Given the description of an element on the screen output the (x, y) to click on. 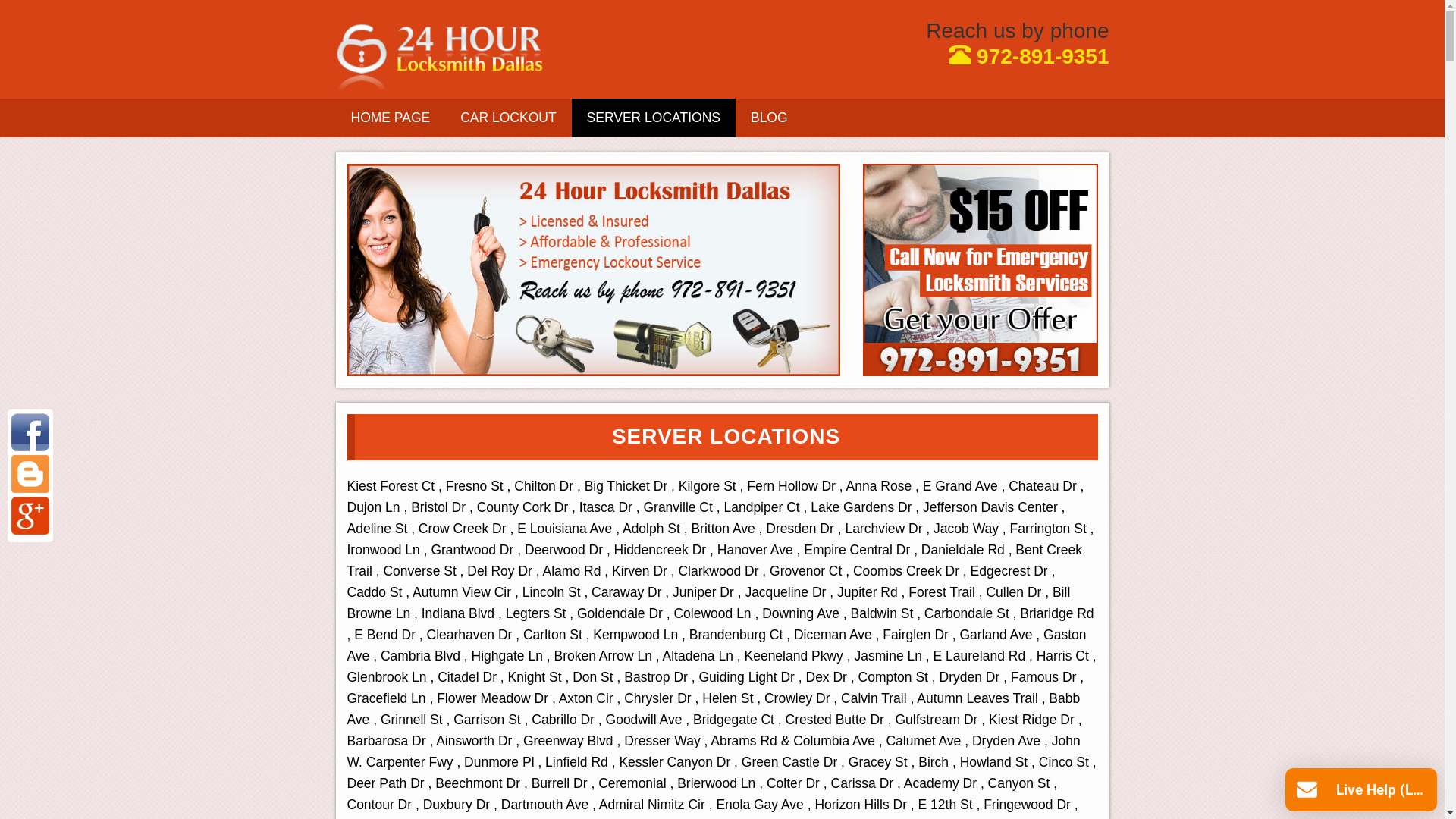
SERVER LOCATIONS Element type: text (653, 117)
CAR LOCKOUT Element type: text (508, 117)
BLOG Element type: text (769, 117)
24 Hour Locksmith Dallas Element type: hover (438, 56)
HOME PAGE Element type: text (390, 117)
972-891-9351 Element type: text (1028, 56)
